Given the description of an element on the screen output the (x, y) to click on. 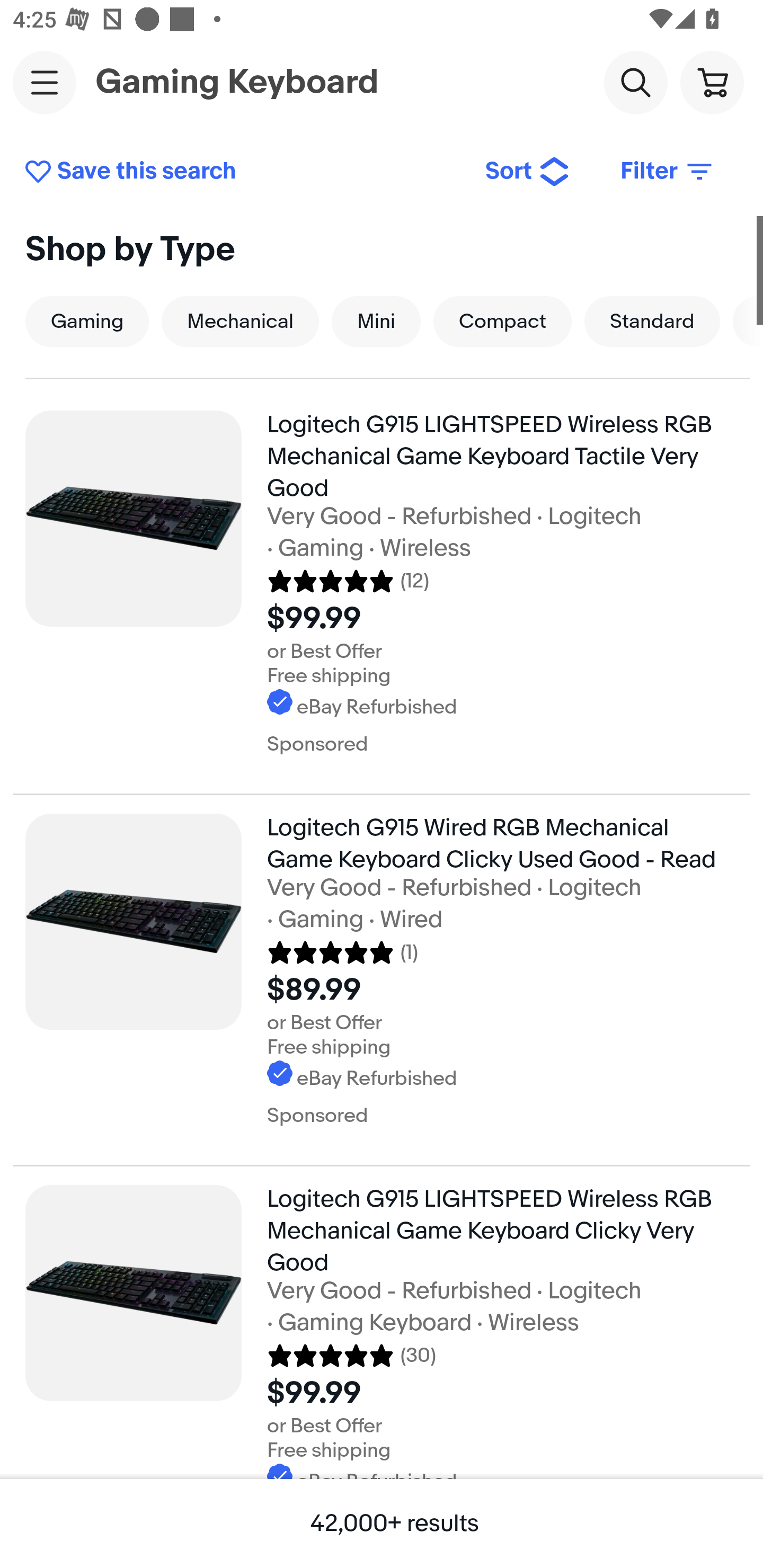
Main navigation, open (44, 82)
Search (635, 81)
Cart button shopping cart (711, 81)
Save this search (241, 171)
Sort (527, 171)
Filter (667, 171)
Gaming Gaming, Type (86, 321)
Mechanical Mechanical, Type (239, 321)
Mini Mini, Type (375, 321)
Compact Compact, Type (502, 321)
Standard Standard, Type (652, 321)
